Given the description of an element on the screen output the (x, y) to click on. 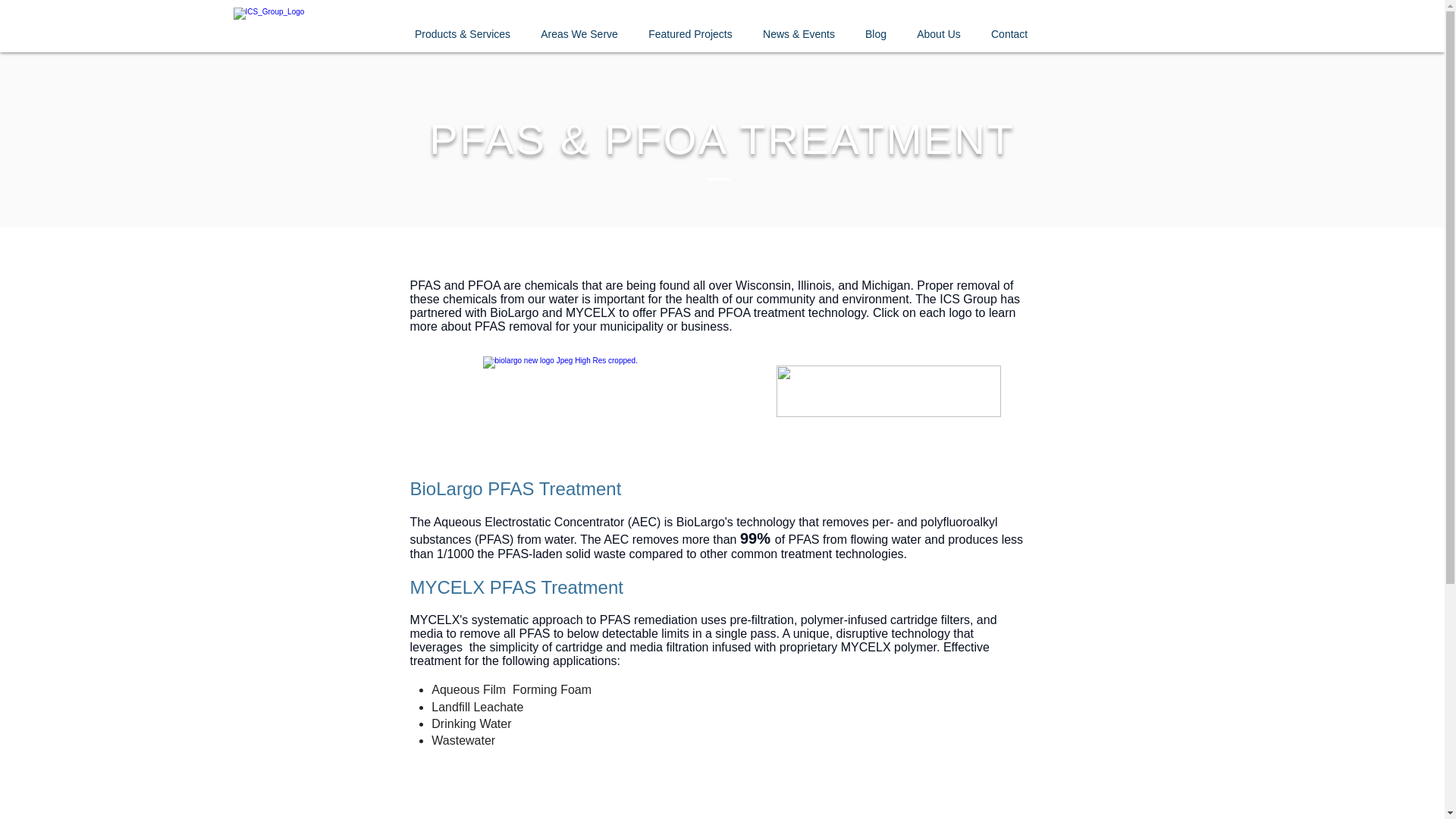
MYCELX LOGO.png (888, 390)
Featured Projects (690, 34)
About Us (938, 34)
Contact (1008, 34)
Blog (875, 34)
Areas We Serve (579, 34)
